Given the description of an element on the screen output the (x, y) to click on. 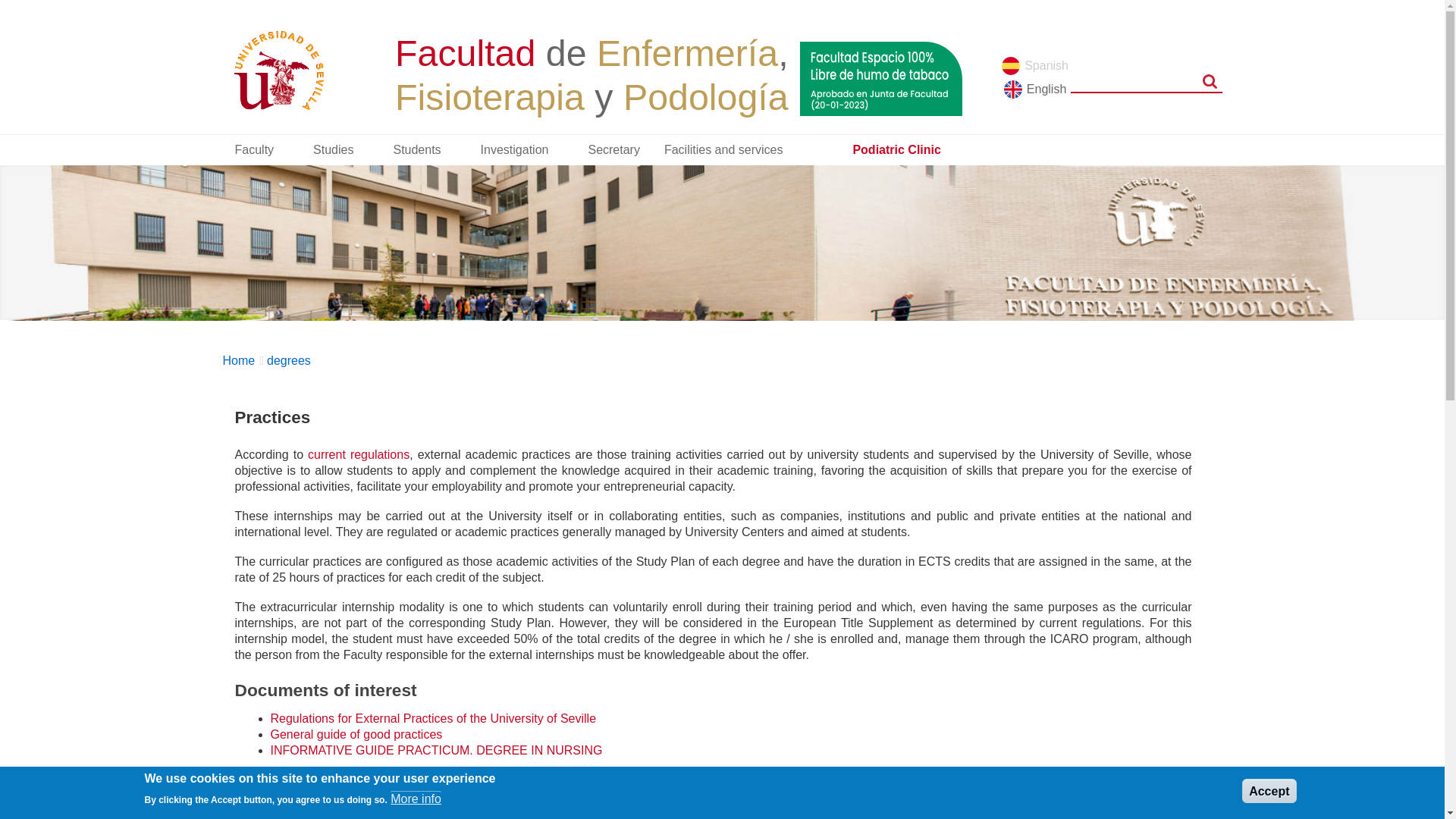
Enter the terms you wish to search for. (1146, 80)
Spanish (1034, 65)
Search (1210, 80)
Search (1210, 80)
Search (1210, 80)
Faculty (261, 150)
English (1034, 88)
